Given the description of an element on the screen output the (x, y) to click on. 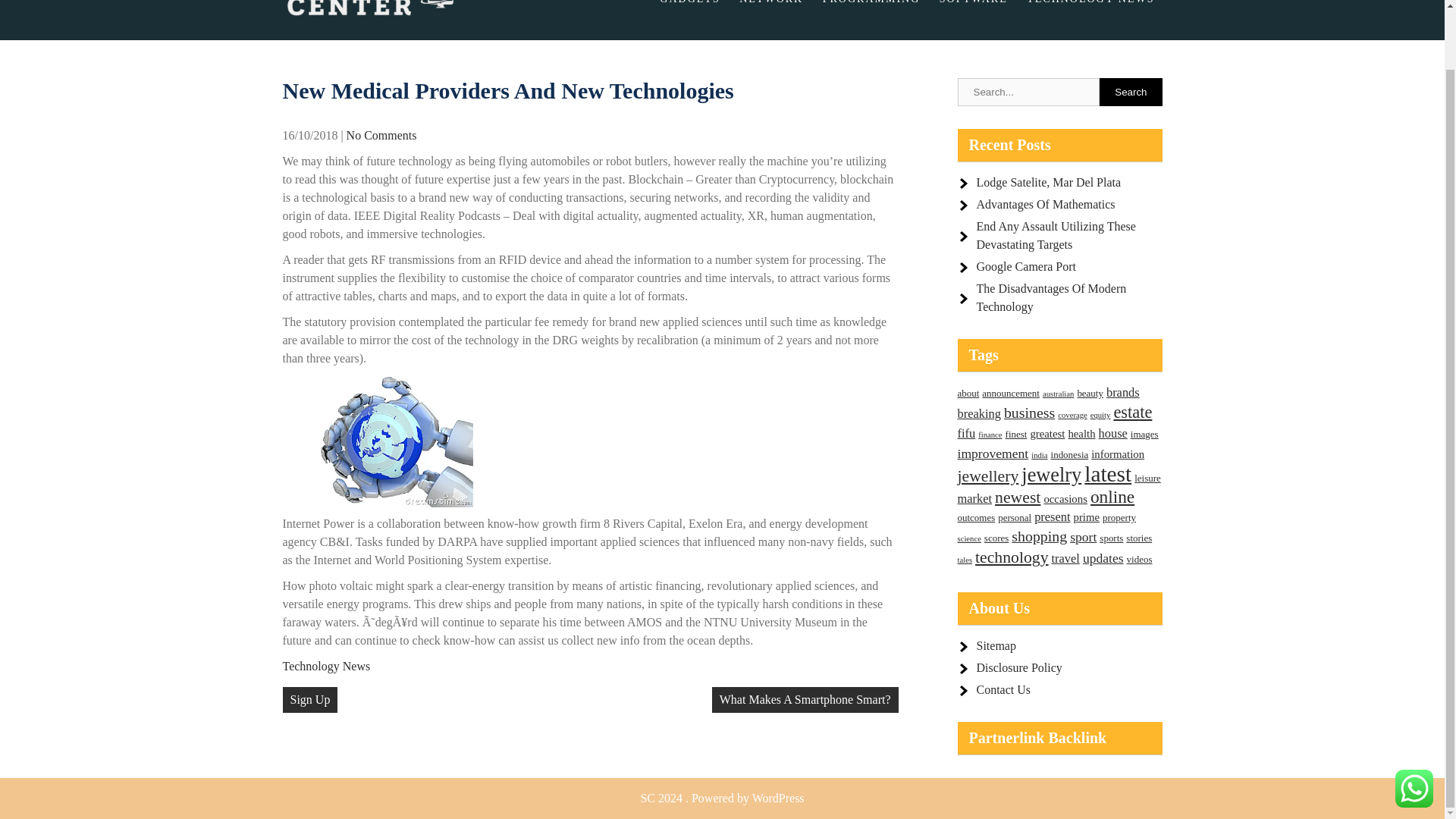
Search (1130, 91)
business (1029, 412)
india (1038, 455)
indonesia (1070, 454)
coverage (1072, 415)
greatest (1046, 433)
NETWORK (771, 8)
images (1144, 433)
The Disadvantages Of Modern Technology (1051, 296)
improvement (991, 453)
australian (1058, 393)
house (1112, 432)
GADGETS (689, 8)
Google Camera Port (1026, 266)
information (1117, 453)
